Given the description of an element on the screen output the (x, y) to click on. 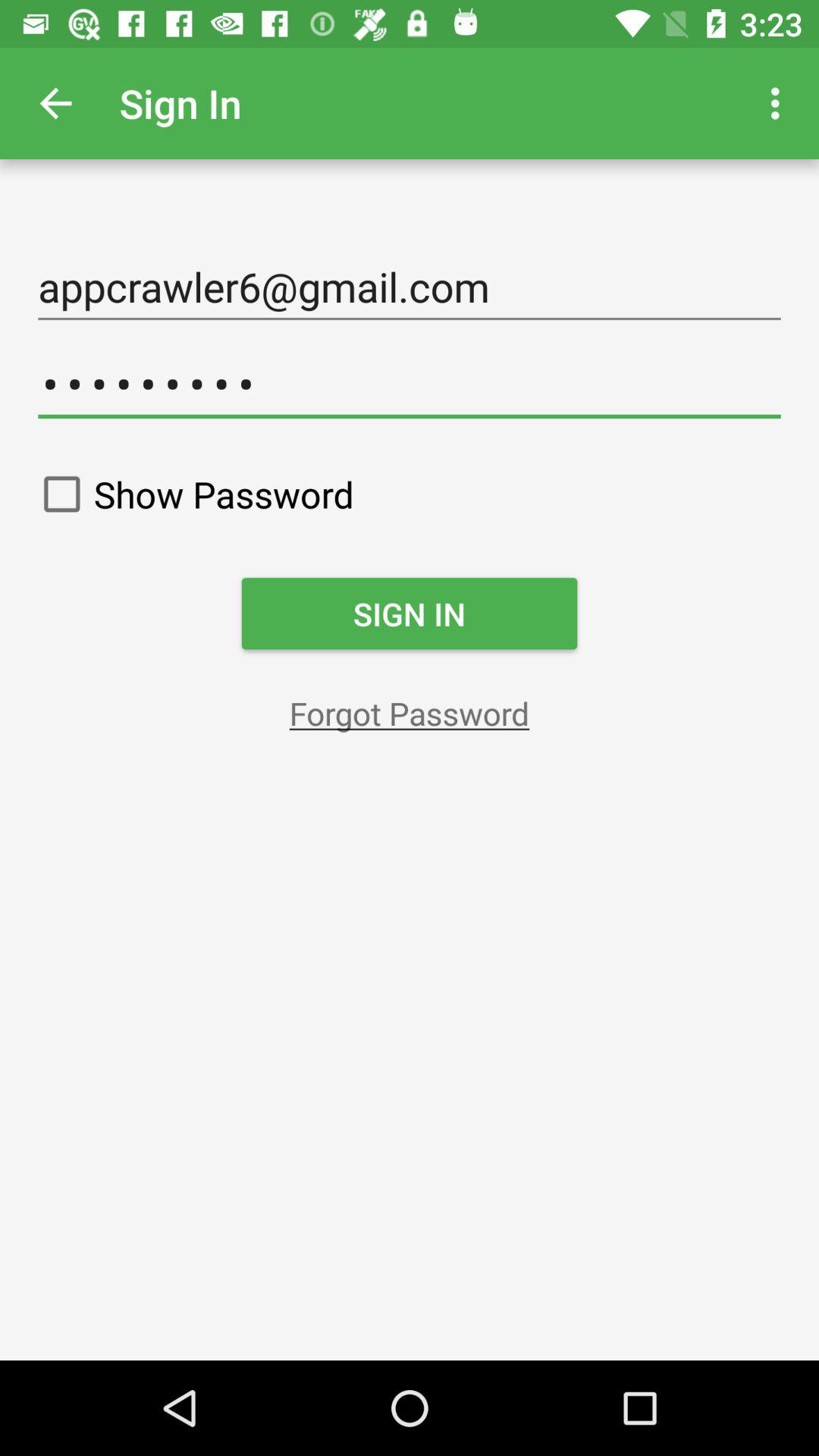
turn on icon above sign in (191, 494)
